Given the description of an element on the screen output the (x, y) to click on. 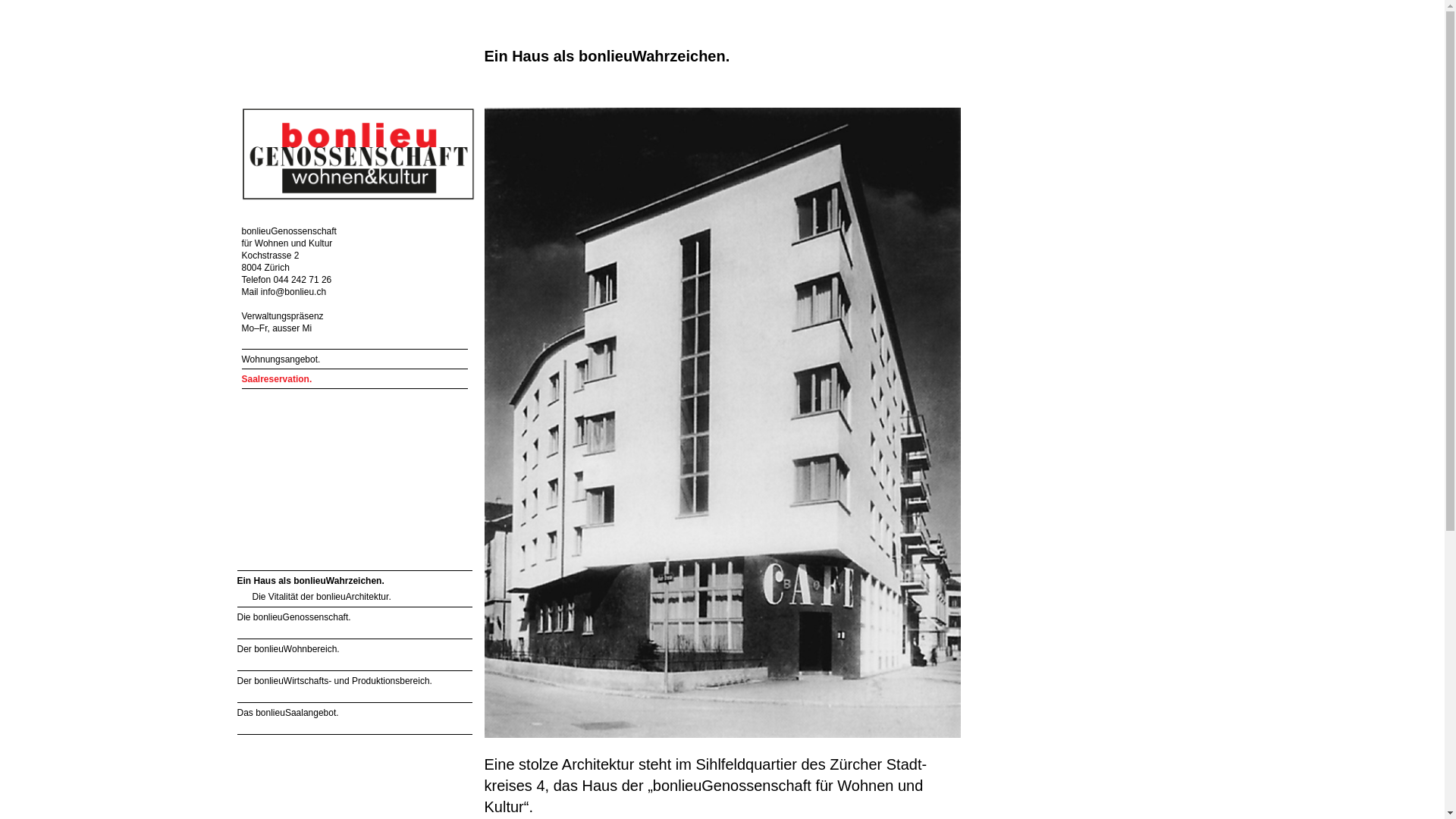
Die bonlieuGenossenschaft. Element type: text (100, 275)
Ein Haus als bonlieuWahrzeichen. Element type: text (100, 238)
Der bonlieuWirtschafts- und Produktionsbereich. Element type: text (353, 680)
Das bonlieuSaalangebot. Element type: text (353, 712)
info@bonlieu.ch Element type: text (293, 291)
Der bonlieuWirtschafts- und Produktionsbereich. Element type: text (100, 344)
Die bonlieuGenossenschaft. Element type: text (353, 617)
Der bonlieuWohnbereich. Element type: text (353, 649)
Wohnungsangebot. Element type: text (354, 359)
Saalreservation. Element type: text (354, 379)
info@bonlieu.ch Element type: text (66, 113)
Der bonlieuWohnbereich. Element type: text (100, 307)
Ein Haus als bonlieuWahrzeichen. Element type: text (353, 580)
Das bonlieuSaalangebot. Element type: text (100, 370)
